Given the description of an element on the screen output the (x, y) to click on. 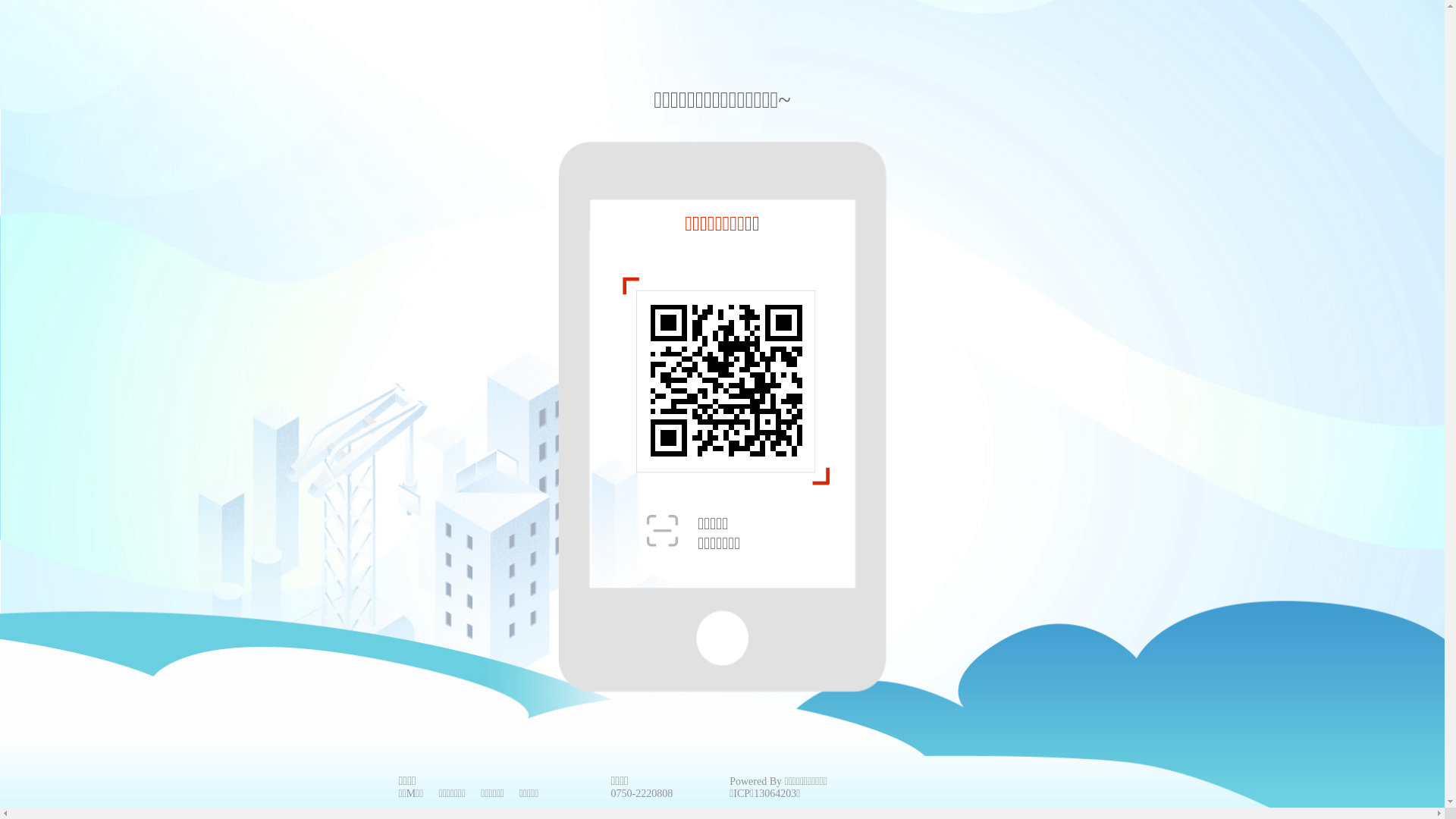
http://www.cche.cc Element type: hover (726, 380)
